Given the description of an element on the screen output the (x, y) to click on. 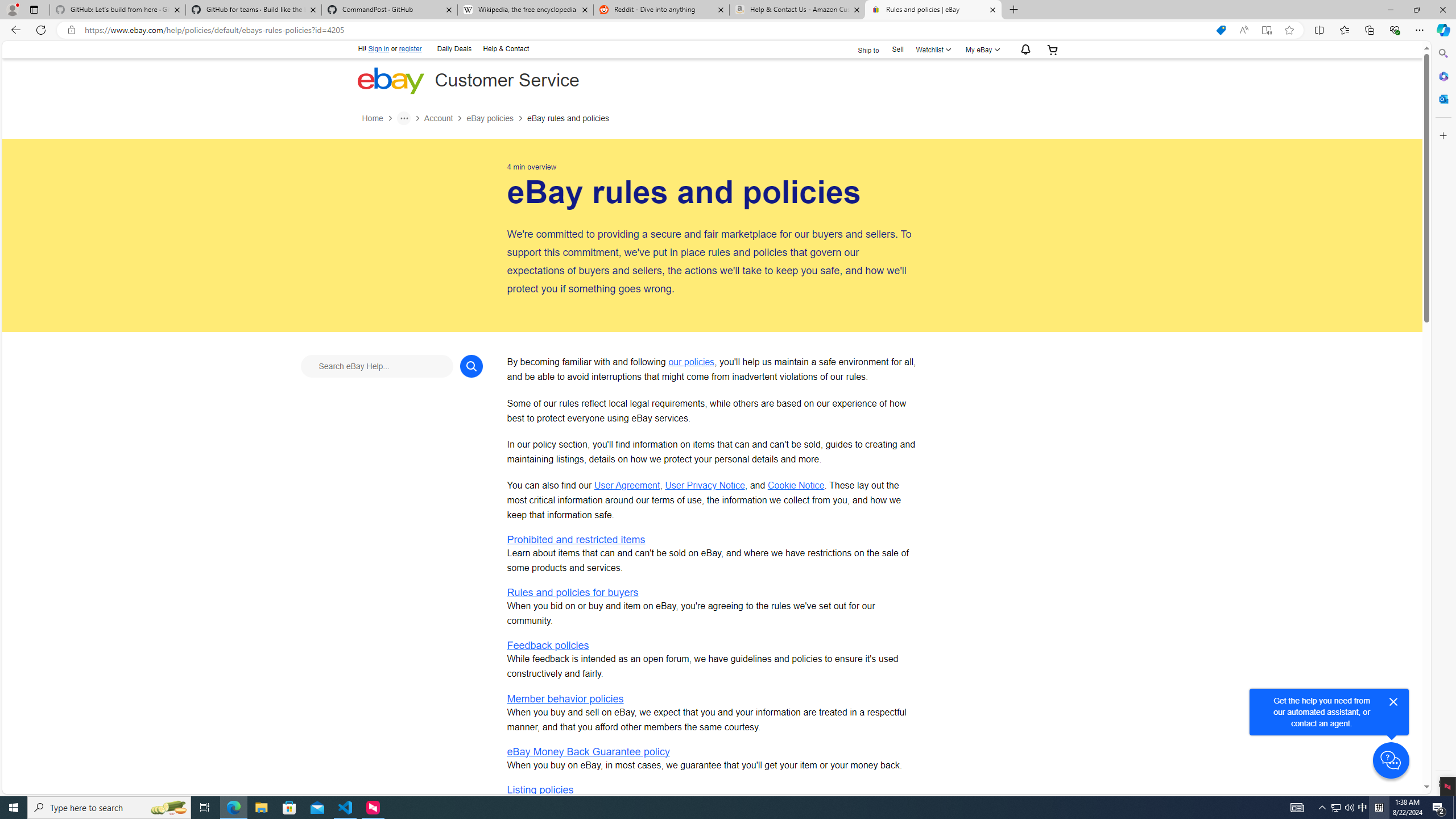
Account (445, 117)
eBay Home (389, 80)
eBay rules and policies (567, 117)
register (410, 49)
AutomationID: gh-eb-Alerts (1023, 49)
Wikipedia, the free encyclopedia (525, 9)
This site has coupons! Shopping in Microsoft Edge (1220, 29)
Rules and policies for buyers (572, 592)
